Given the description of an element on the screen output the (x, y) to click on. 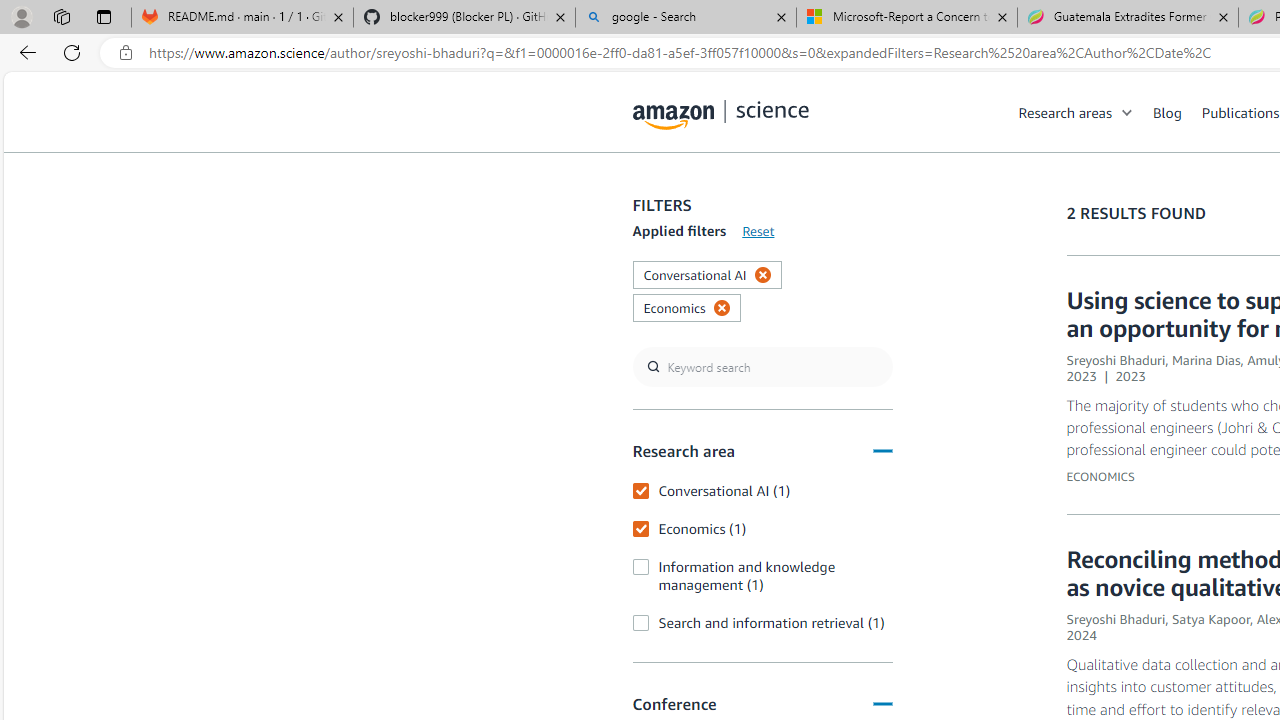
Reset (758, 231)
Class: chevron (1128, 116)
ECONOMICS (1100, 476)
Blog (1177, 111)
Class: icon-magnify (654, 192)
Publications (1240, 111)
home page (721, 110)
Research areas (1085, 111)
